Given the description of an element on the screen output the (x, y) to click on. 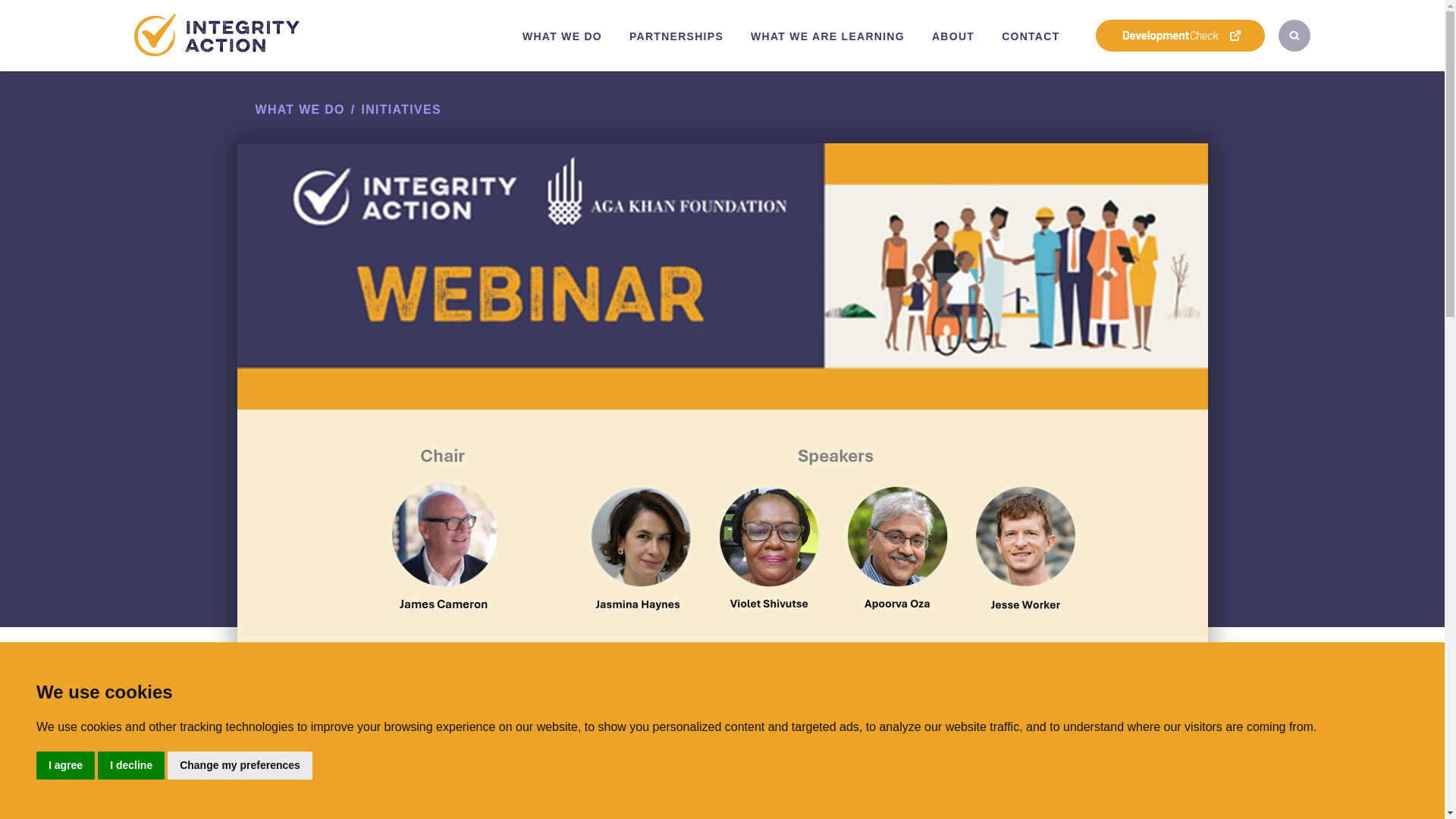
PARTNERSHIPS (675, 36)
SEARCH (1294, 35)
WHAT WE DO (561, 36)
INITIATIVES (401, 109)
WHAT WE DO (298, 109)
ABOUT (953, 36)
Change my preferences (240, 765)
I agree (65, 765)
CONTACT (1030, 36)
I decline (130, 765)
